Given the description of an element on the screen output the (x, y) to click on. 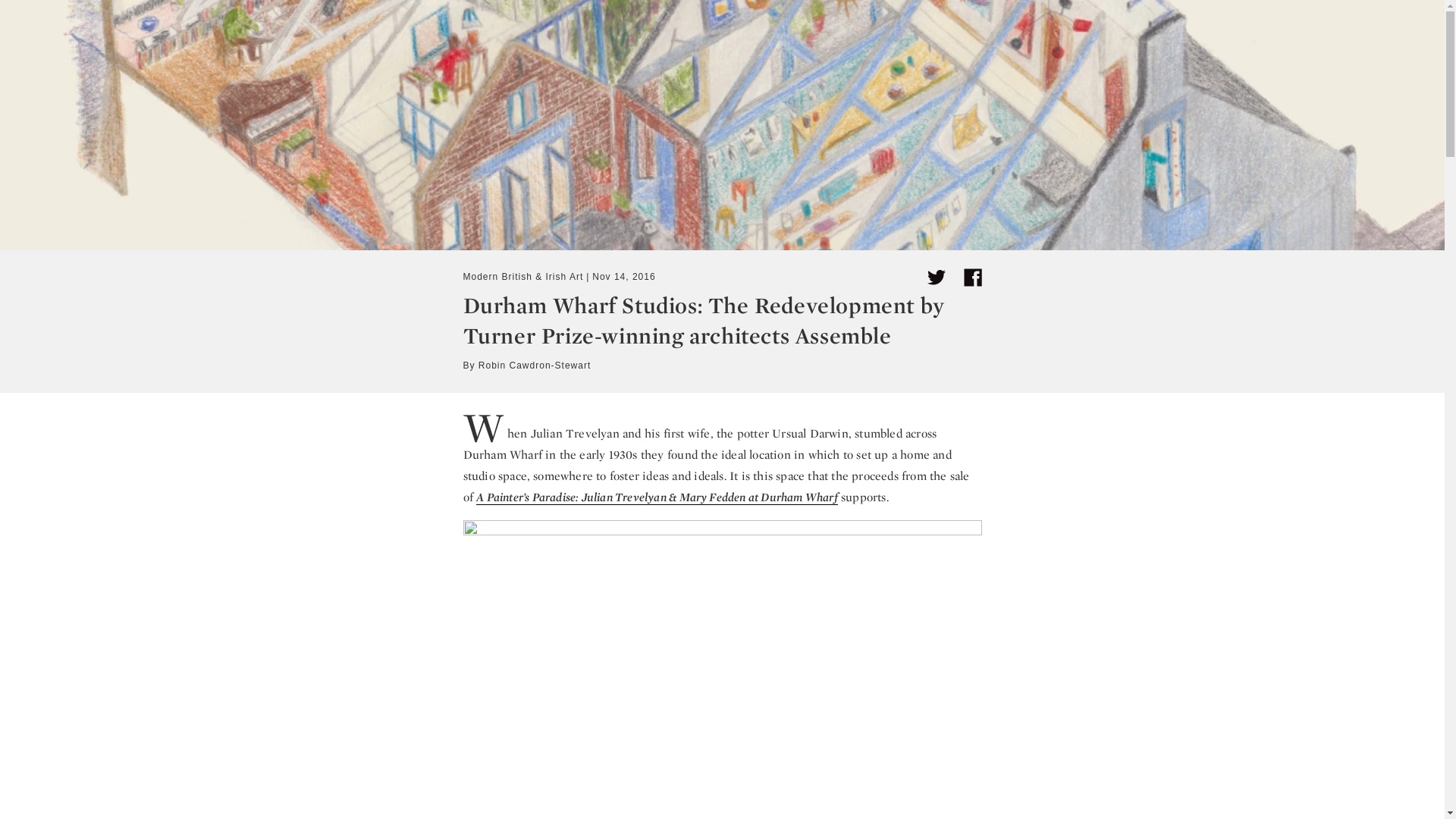
Created with Sketch. (971, 277)
Created with Sketch. (935, 277)
Created with Sketch. (971, 277)
Created with Sketch. (935, 277)
